Given the description of an element on the screen output the (x, y) to click on. 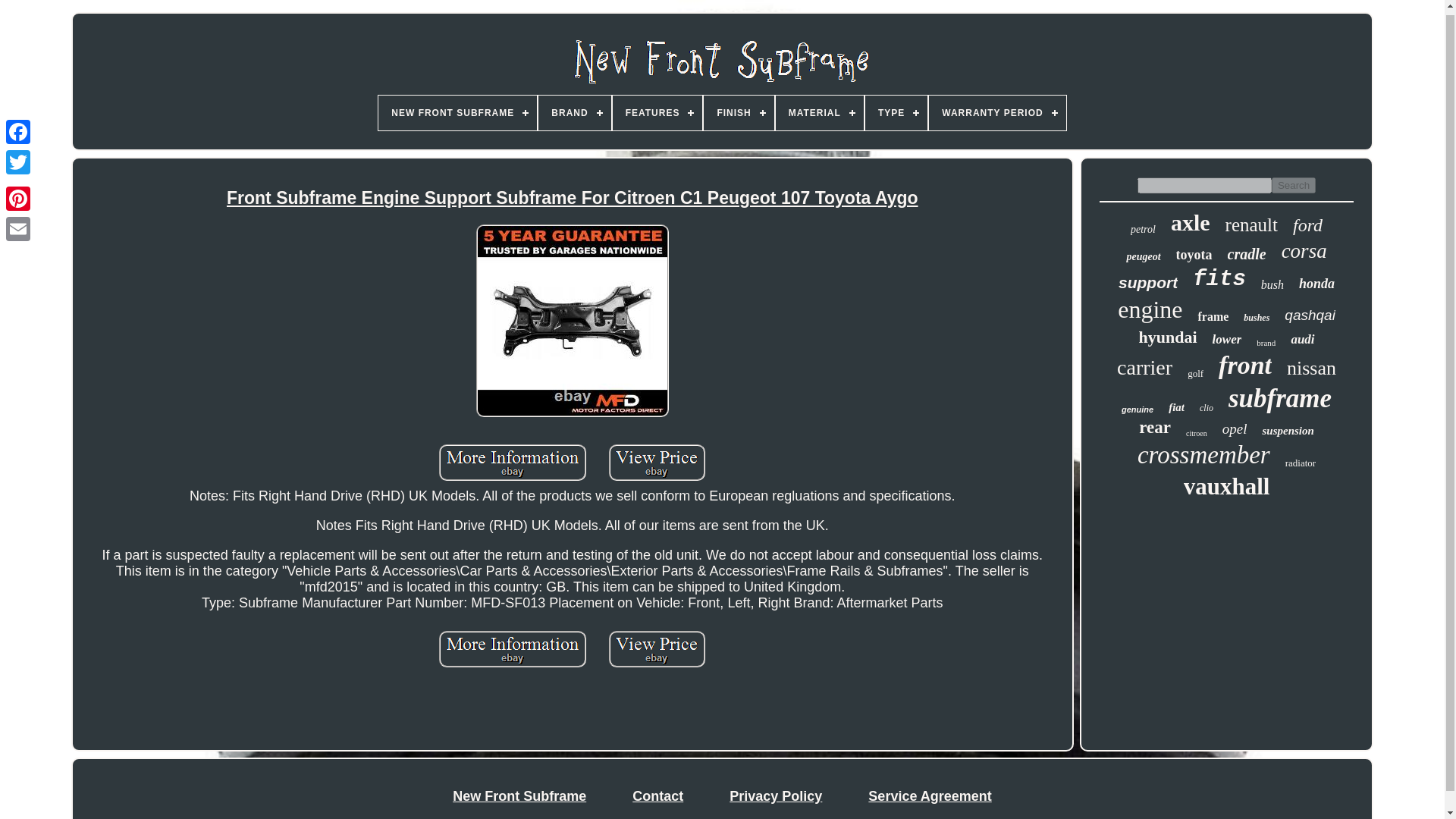
NEW FRONT SUBFRAME (457, 112)
FEATURES (657, 112)
Search (1293, 185)
BRAND (574, 112)
